Given the description of an element on the screen output the (x, y) to click on. 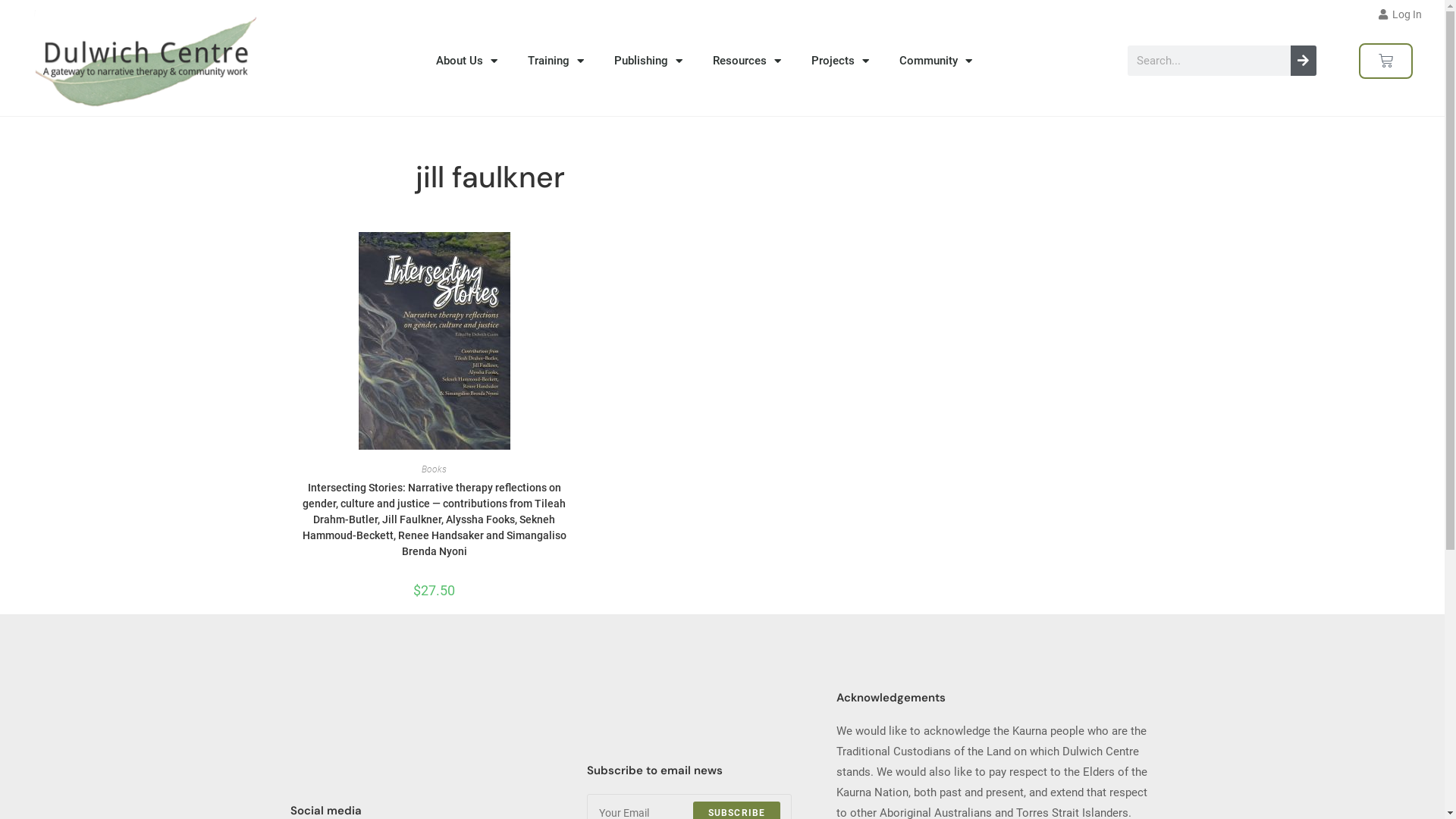
Training Element type: text (555, 60)
Community Element type: text (935, 60)
Books Element type: text (433, 469)
About Us Element type: text (466, 60)
Projects Element type: text (840, 60)
Resources Element type: text (746, 60)
Publishing Element type: text (648, 60)
